Given the description of an element on the screen output the (x, y) to click on. 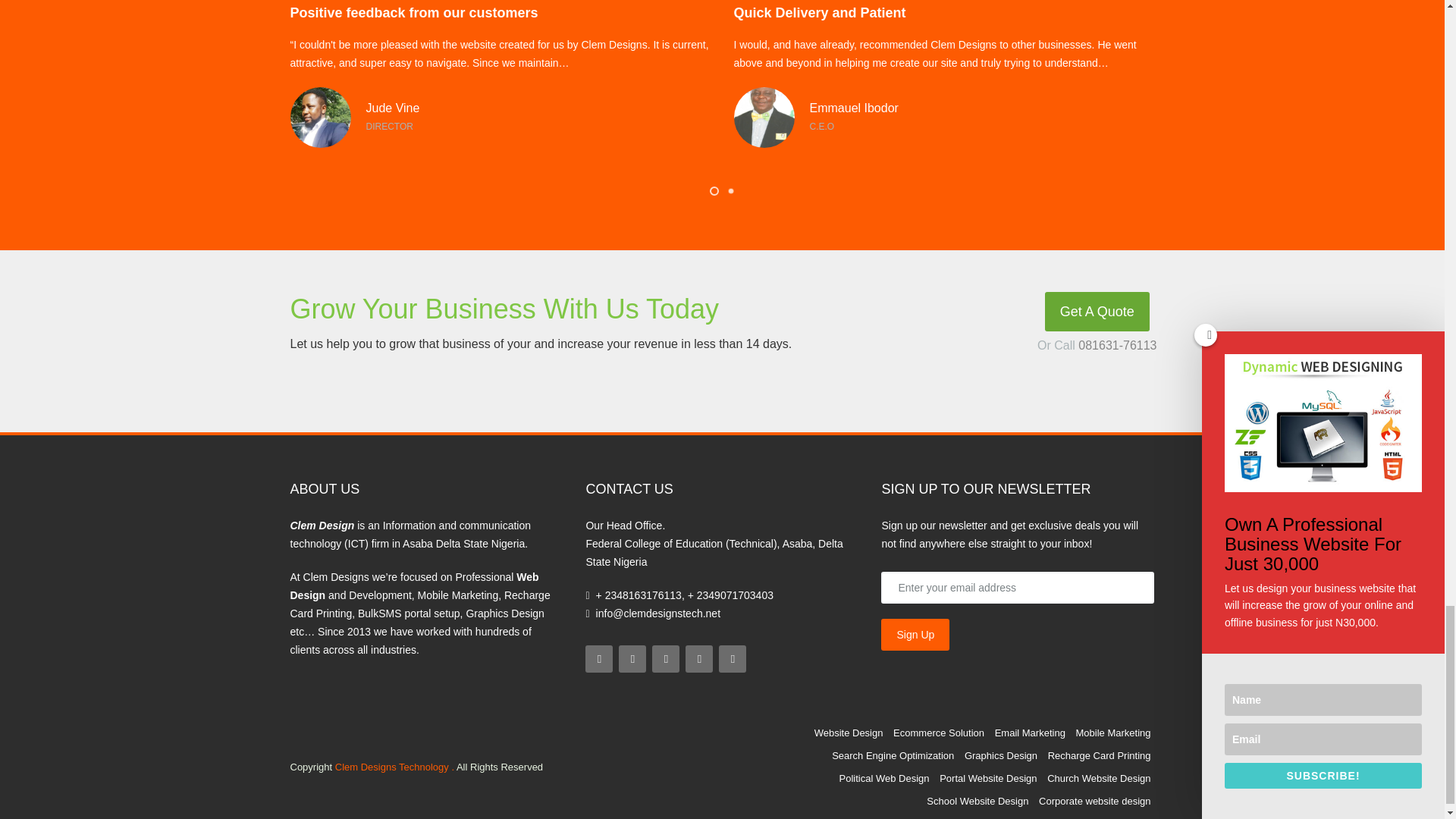
Quick Delivery and Patient (763, 117)
Positive feedback from our customers (319, 117)
